Given the description of an element on the screen output the (x, y) to click on. 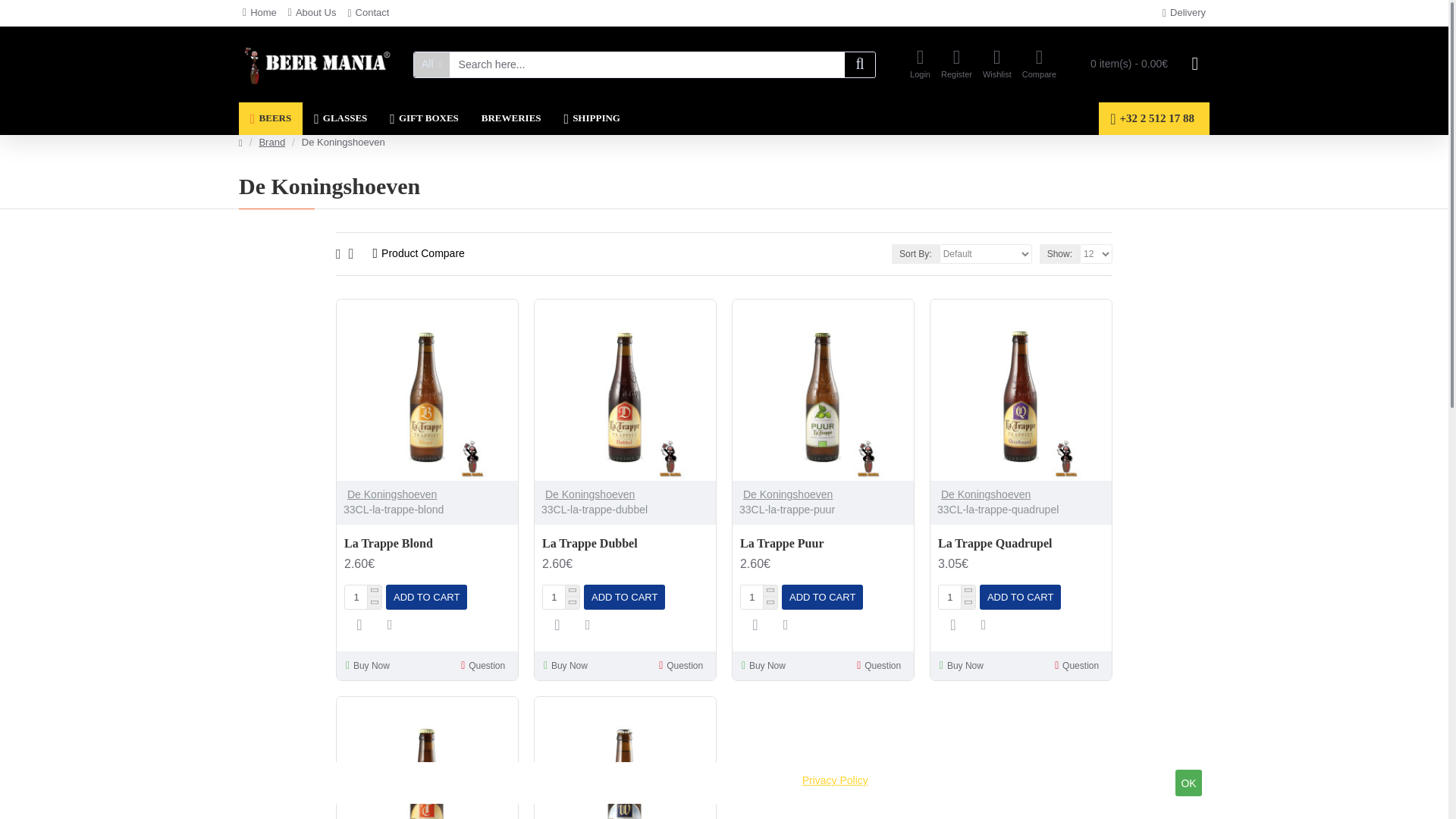
Register (956, 64)
Wishlist (996, 64)
Contact (368, 13)
GIFT BOXES (423, 118)
1 (561, 597)
Beer Mania - Belgian Craft Beers (316, 64)
La Trappe Quadrupel (1021, 389)
BEERS (270, 118)
GLASSES (340, 118)
1 (957, 597)
Home (259, 13)
La Trappe Dubbel (625, 389)
Delivery (1183, 13)
1 (759, 597)
Compare (1038, 64)
